Given the description of an element on the screen output the (x, y) to click on. 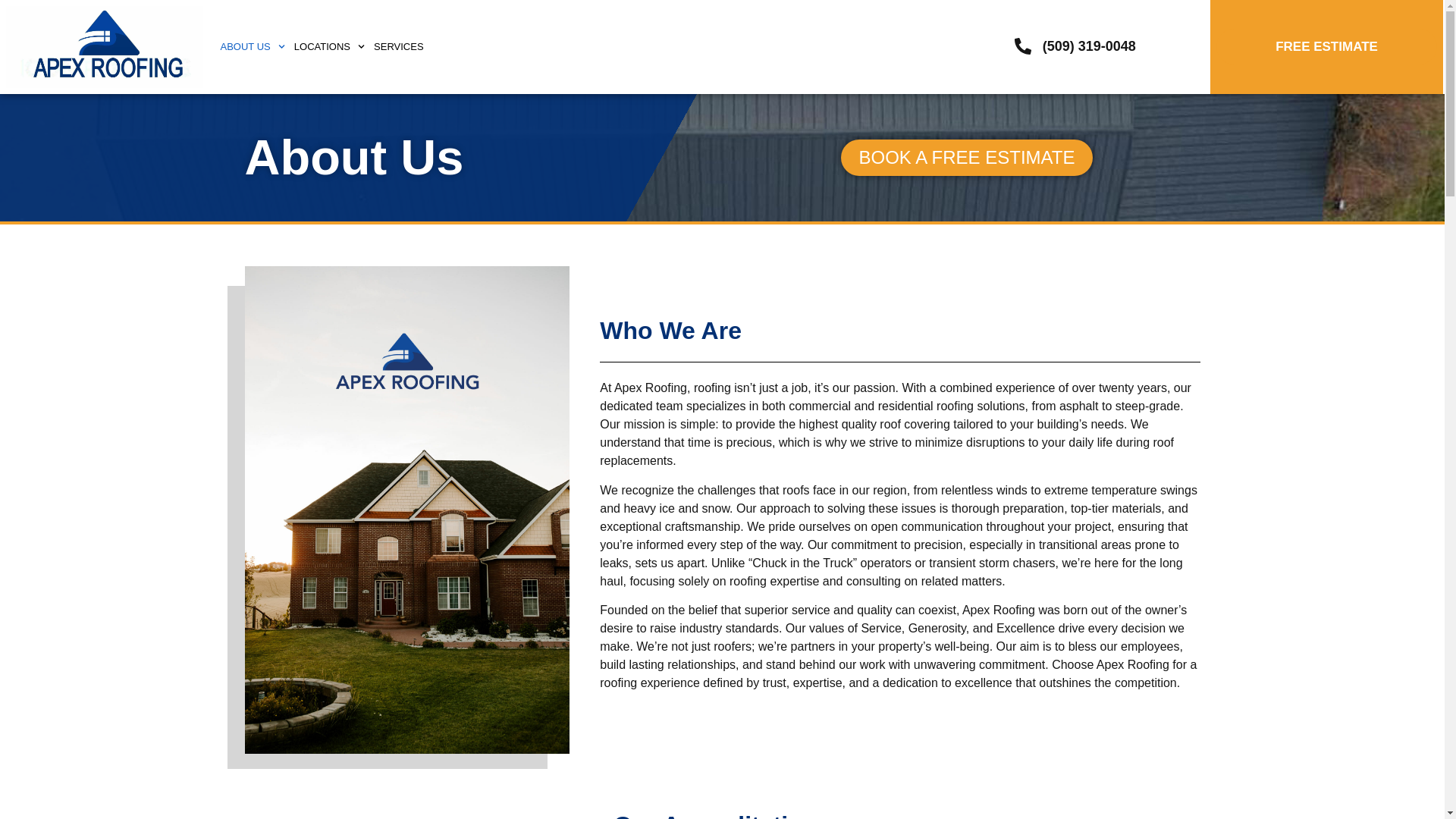
SERVICES (398, 47)
LOCATIONS (329, 47)
FREE ESTIMATE (1325, 46)
ABOUT US (251, 47)
